Given the description of an element on the screen output the (x, y) to click on. 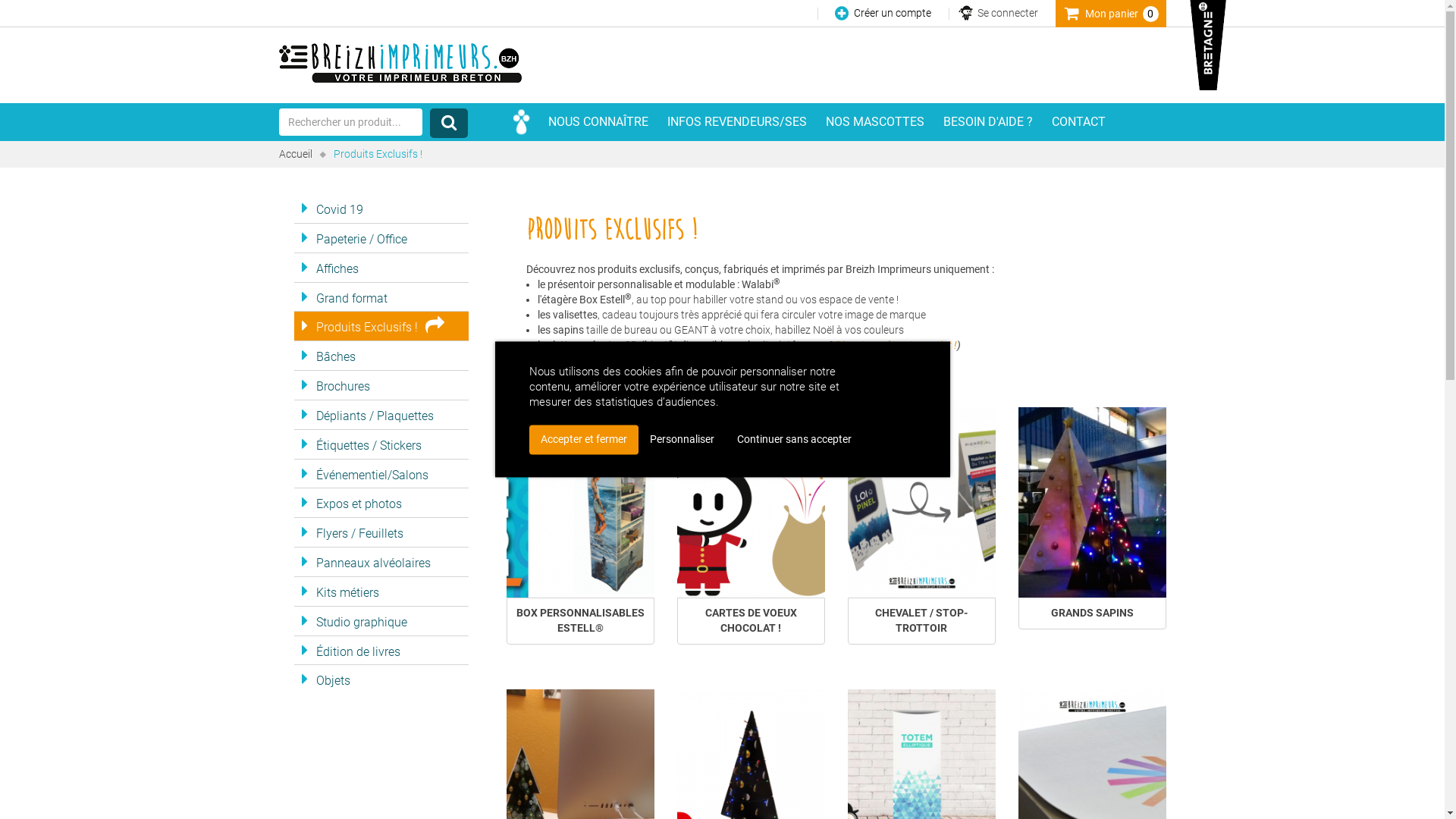
Discutons de votre projet ! Element type: text (895, 344)
Expos et photos Element type: text (381, 502)
Accueil Element type: text (295, 153)
Affiches Element type: text (381, 267)
Brochures Element type: text (381, 384)
Breizh Imprimeurs Element type: hover (400, 62)
Covid 19 Element type: text (381, 208)
INFOS REVENDEURS/SES Element type: text (736, 121)
Objets Element type: text (381, 679)
Grand format Element type: text (381, 296)
Continuer sans accepter Element type: text (793, 439)
Produits Exclusifs ! Element type: text (381, 325)
Accepter et fermer Element type: text (583, 439)
Cartes de voeux chocolat ! Element type: hover (750, 501)
Se connecter Element type: text (1006, 12)
Grands Sapins Element type: hover (1091, 501)
Chevalet / Stop-trottoir Element type: hover (921, 501)
ACCUEIL Element type: text (521, 121)
CONTACT Element type: text (1077, 121)
CHEVALET / STOP-TROTTOIR Element type: text (921, 620)
CARTES DE VOEUX CHOCOLAT ! Element type: text (750, 620)
Studio graphique Element type: text (381, 620)
Flyers / Feuillets Element type: text (381, 531)
BESOIN D'AIDE ? Element type: text (987, 121)
NOS MASCOTTES Element type: text (874, 121)
Papeterie / Office Element type: text (381, 237)
GRANDS SAPINS Element type: text (1091, 613)
Personnaliser Element type: text (681, 439)
